Given the description of an element on the screen output the (x, y) to click on. 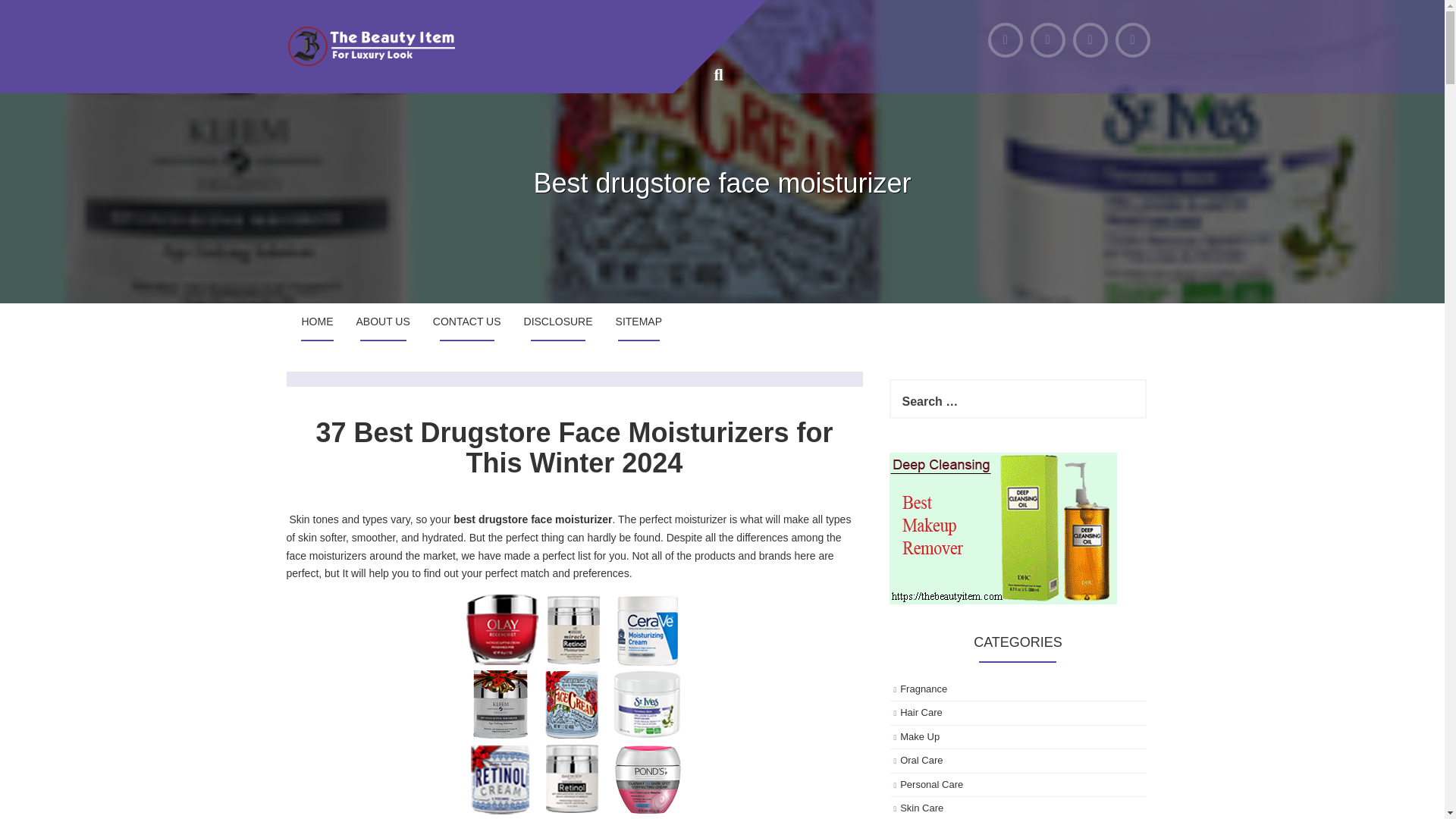
HOME (316, 322)
CONTACT US (467, 322)
ABOUT US (381, 322)
SITEMAP (638, 322)
DISCLOSURE (558, 322)
